Given the description of an element on the screen output the (x, y) to click on. 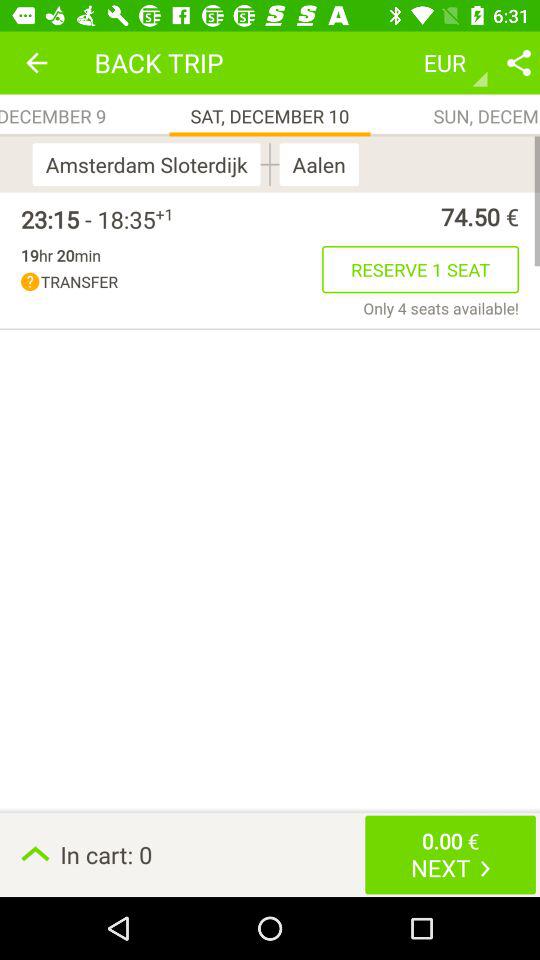
turn on icon below 19hr 20min (171, 281)
